Given the description of an element on the screen output the (x, y) to click on. 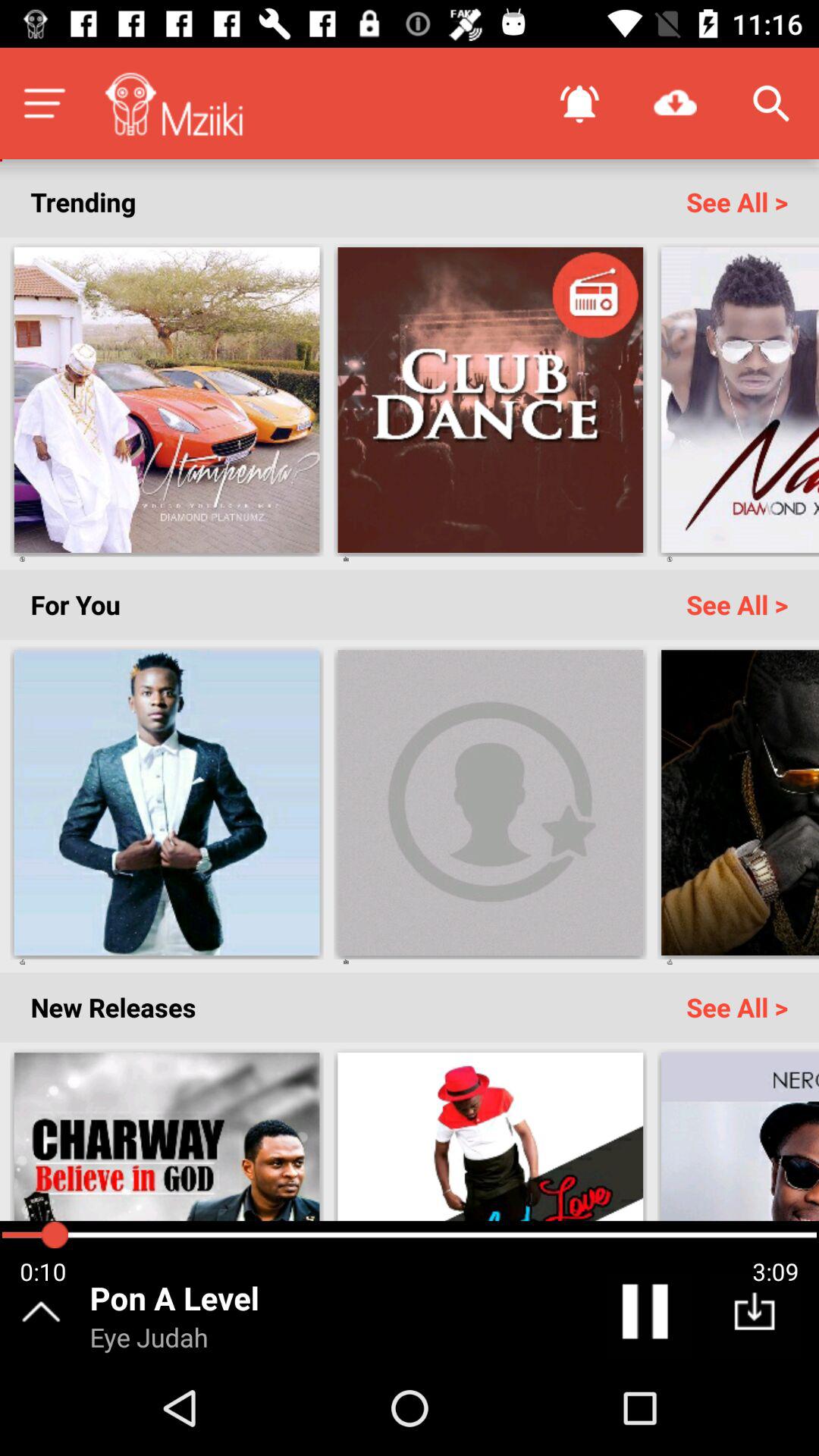
pause music (647, 1315)
